Given the description of an element on the screen output the (x, y) to click on. 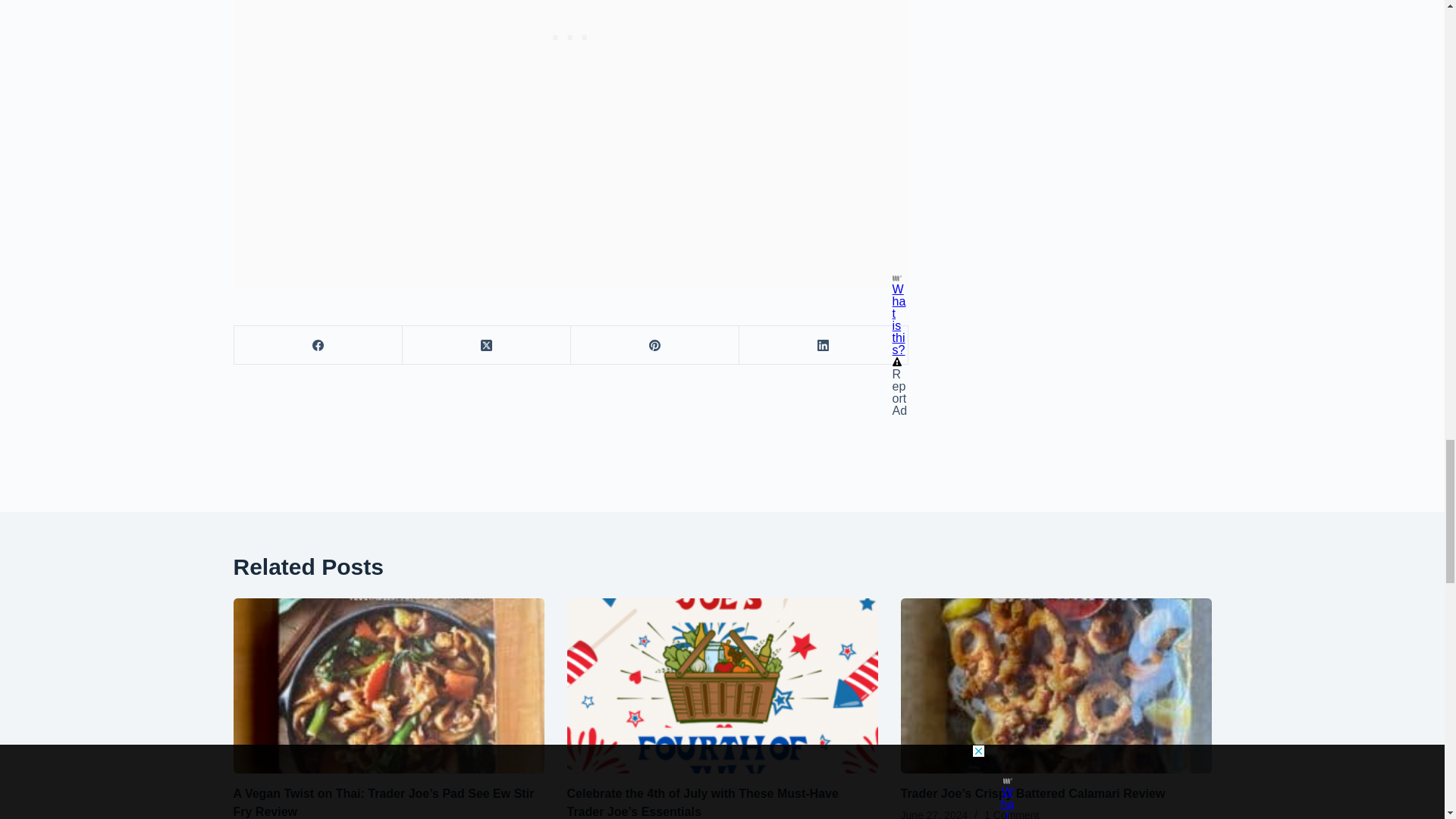
3rd party ad content (571, 11)
